Given the description of an element on the screen output the (x, y) to click on. 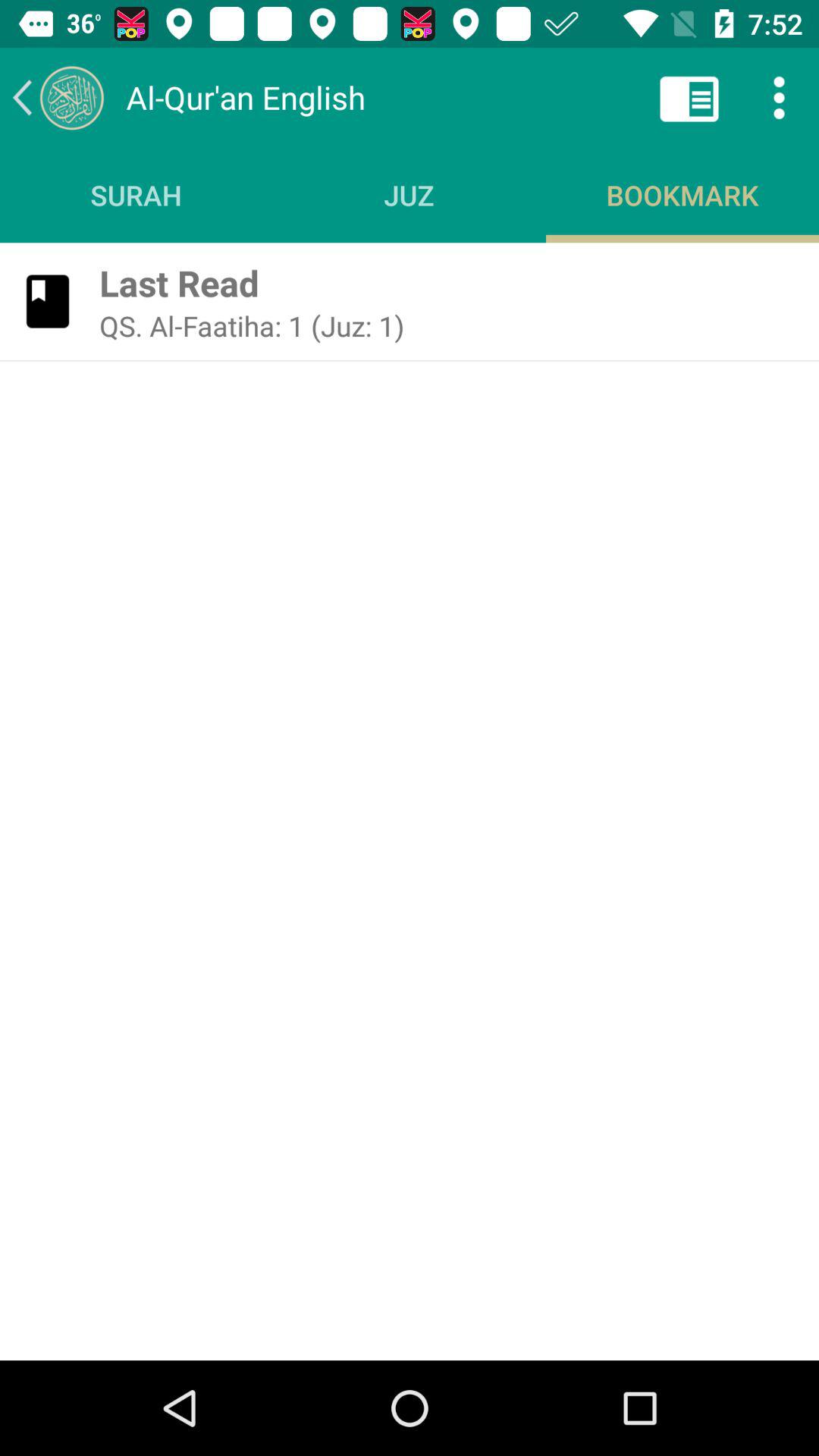
turn on the item next to al qur an icon (689, 97)
